Given the description of an element on the screen output the (x, y) to click on. 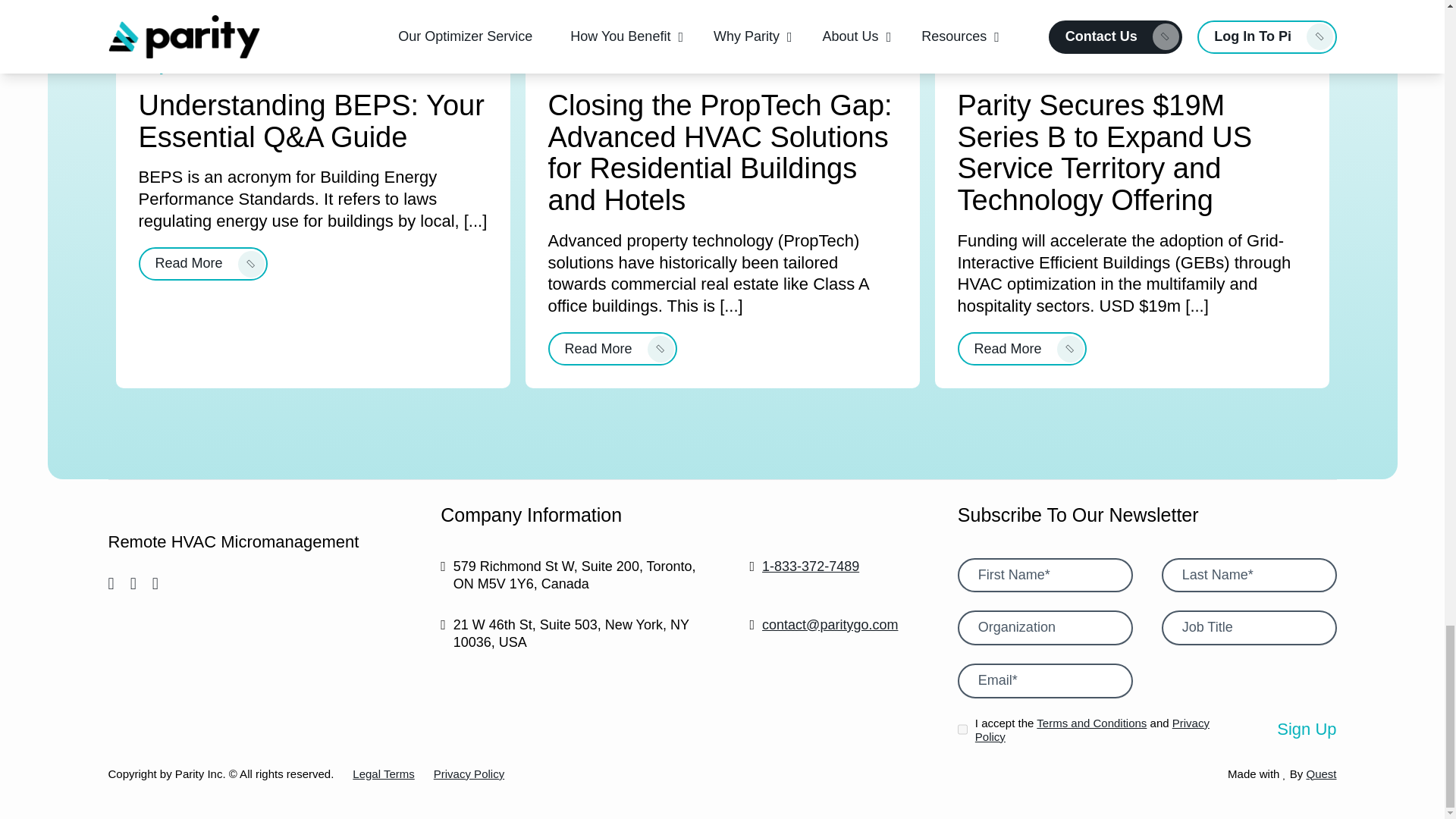
Sign Up (1306, 730)
1 (963, 728)
